Given the description of an element on the screen output the (x, y) to click on. 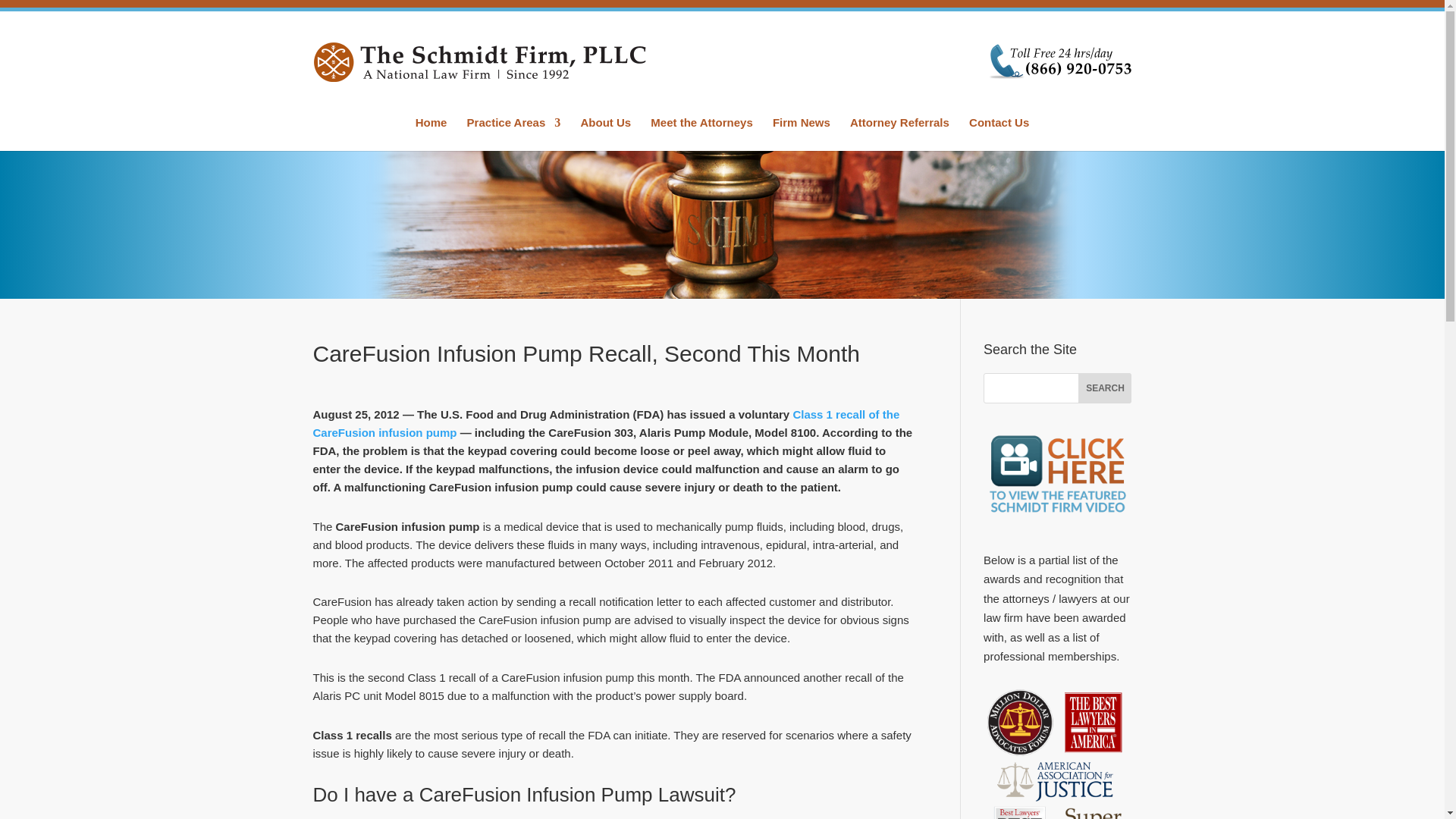
Attorney Referrals (899, 133)
Contact Us (999, 133)
Meet the Attorneys (701, 133)
Search (1104, 388)
About Us (604, 133)
Class 1 recall of the CareFusion infusion pump (606, 422)
Firm News (801, 133)
Home (430, 133)
Practice Areas (513, 133)
Search (1104, 388)
